Given the description of an element on the screen output the (x, y) to click on. 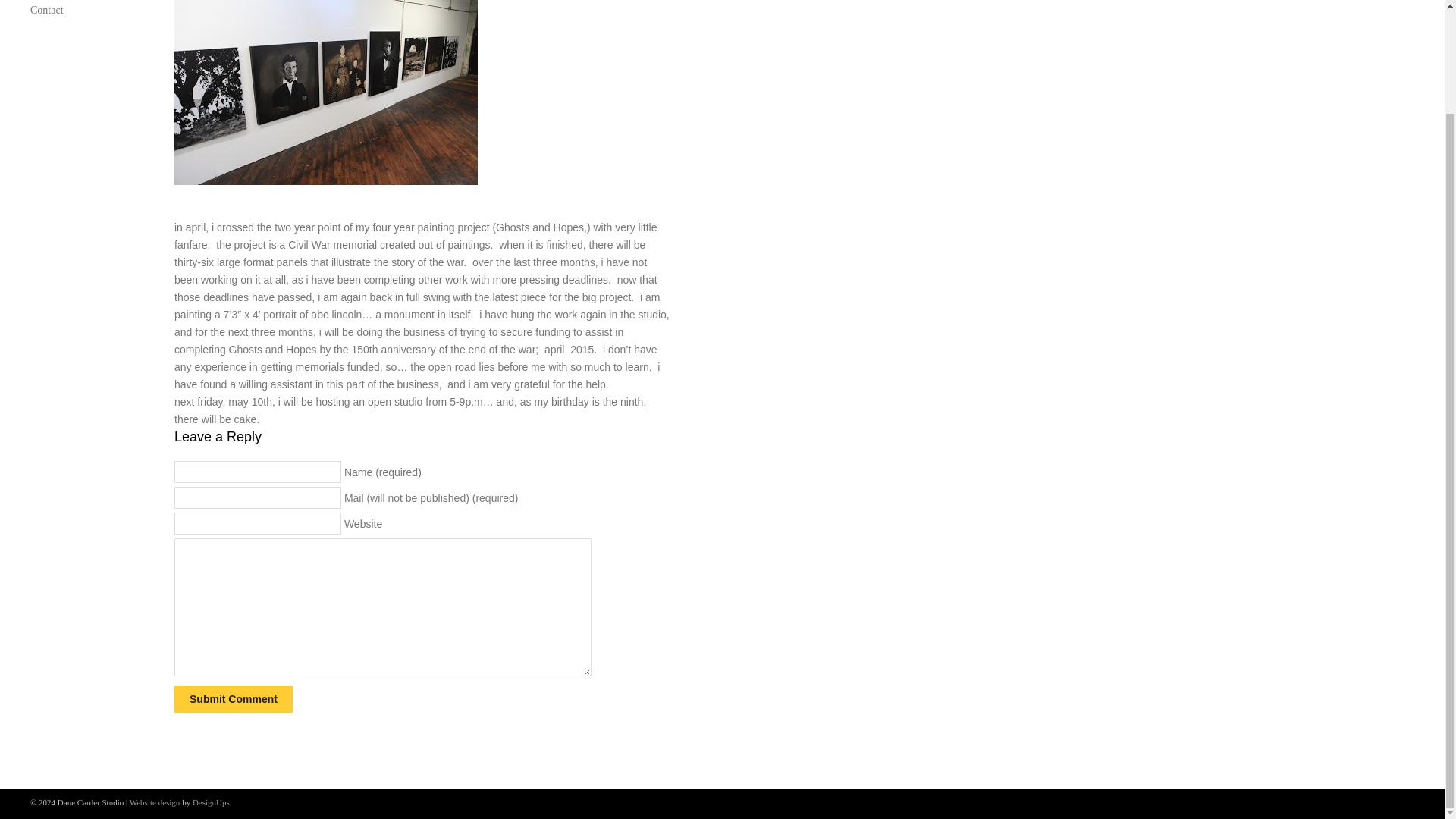
DesignUps (211, 681)
Website design (154, 681)
Submit Comment (233, 698)
Submit Comment (233, 698)
Contact (87, 10)
DesignUps Nashville Web Design Company (211, 681)
Nashville Website Design (154, 681)
